Given the description of an element on the screen output the (x, y) to click on. 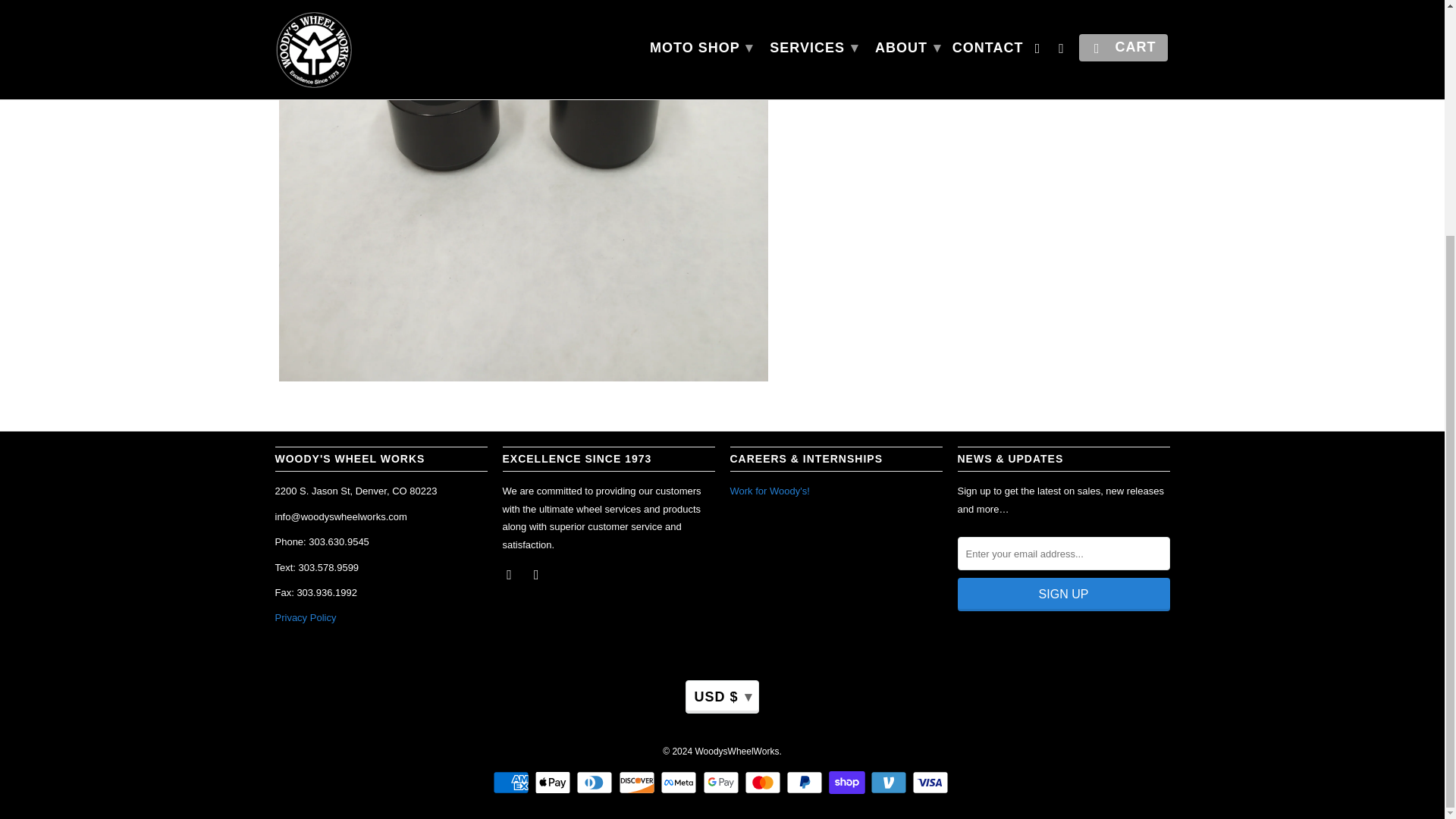
PayPal (805, 782)
Share this on Twitter (833, 87)
Woody's Wheel Works: Privacy Policy (305, 617)
Mastercard (764, 782)
Discover (638, 782)
Diners Club (595, 782)
American Express (512, 782)
Share this on Pinterest (887, 87)
Venmo (890, 782)
WoodysWheelWorks on Instagram (537, 573)
Shop Pay (847, 782)
Meta Pay (680, 782)
Visa (932, 782)
Apple Pay (553, 782)
